Given the description of an element on the screen output the (x, y) to click on. 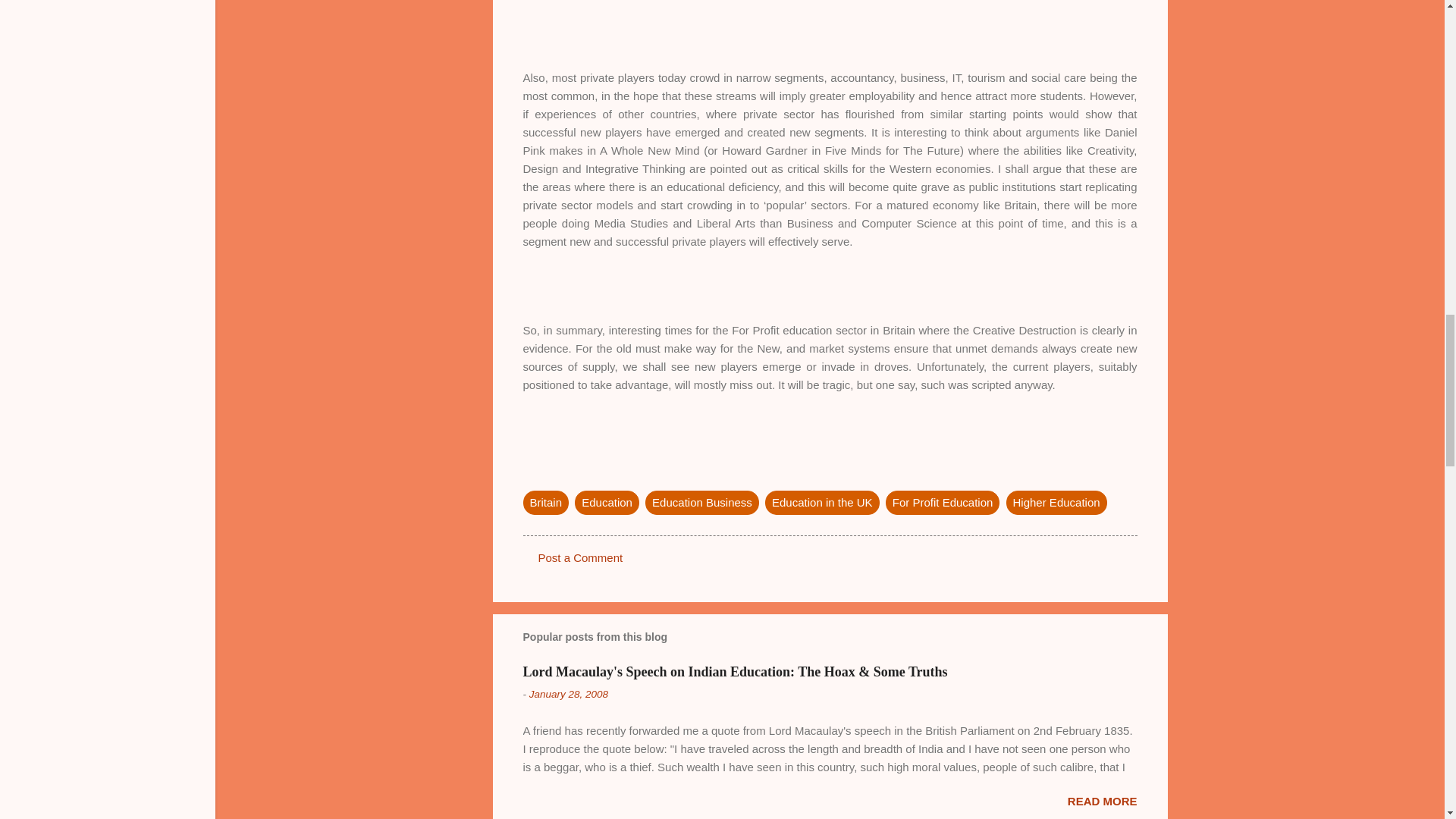
Education Business (701, 501)
Education (607, 501)
For Profit Education (942, 501)
READ MORE (1102, 800)
Email Post (531, 472)
permanent link (568, 694)
Post a Comment (580, 557)
Higher Education (1056, 501)
Education in the UK (822, 501)
January 28, 2008 (568, 694)
